Given the description of an element on the screen output the (x, y) to click on. 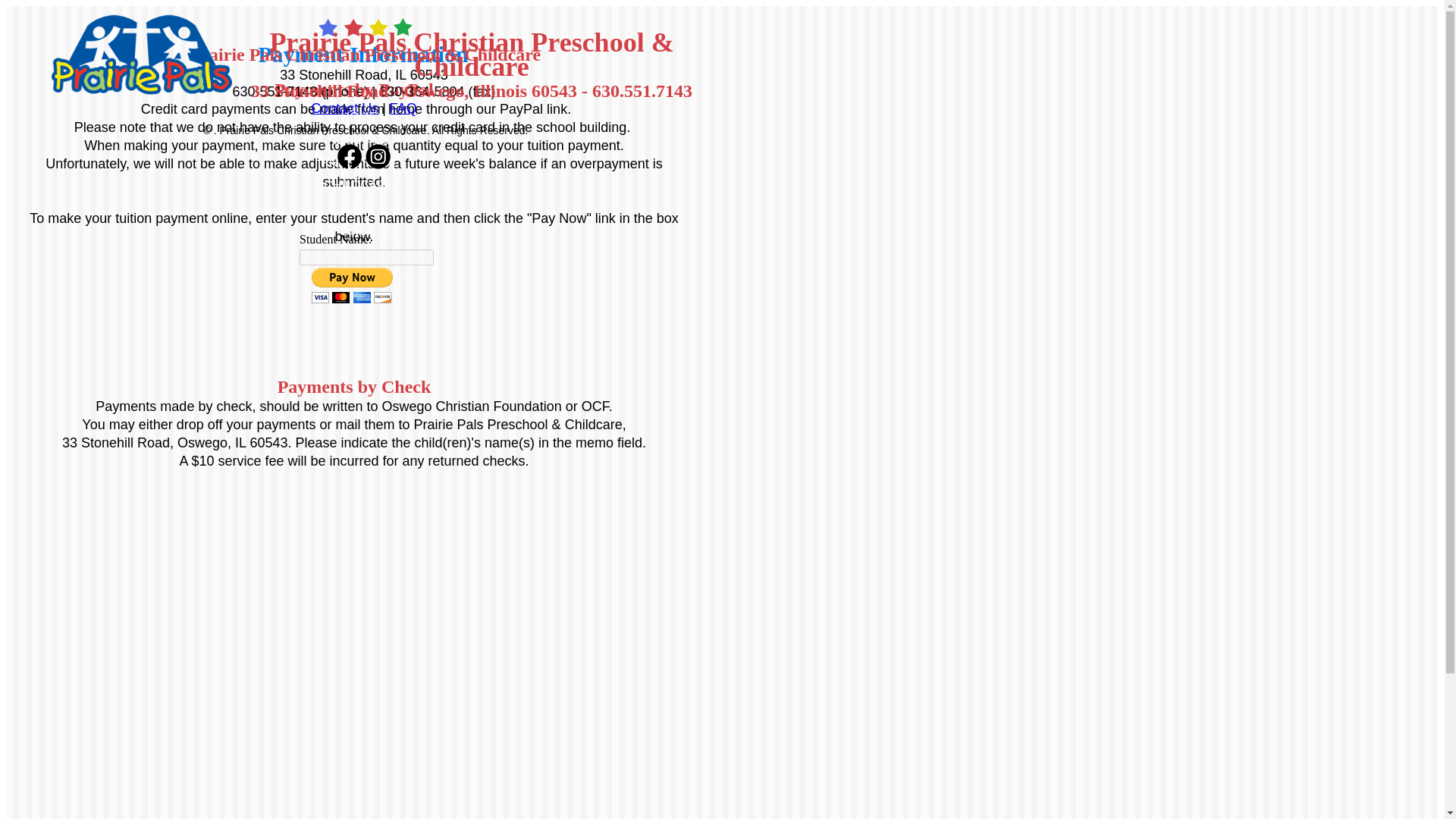
HOME (358, 116)
CHILDCARE (358, 185)
Contact Us (344, 108)
ABOUT US (359, 139)
MAKE A PAYMENT (357, 276)
PRESCHOOL (358, 162)
SPONSORS (358, 230)
OCF (359, 207)
FAQ (403, 108)
EMPLOYMENT (358, 253)
